Given the description of an element on the screen output the (x, y) to click on. 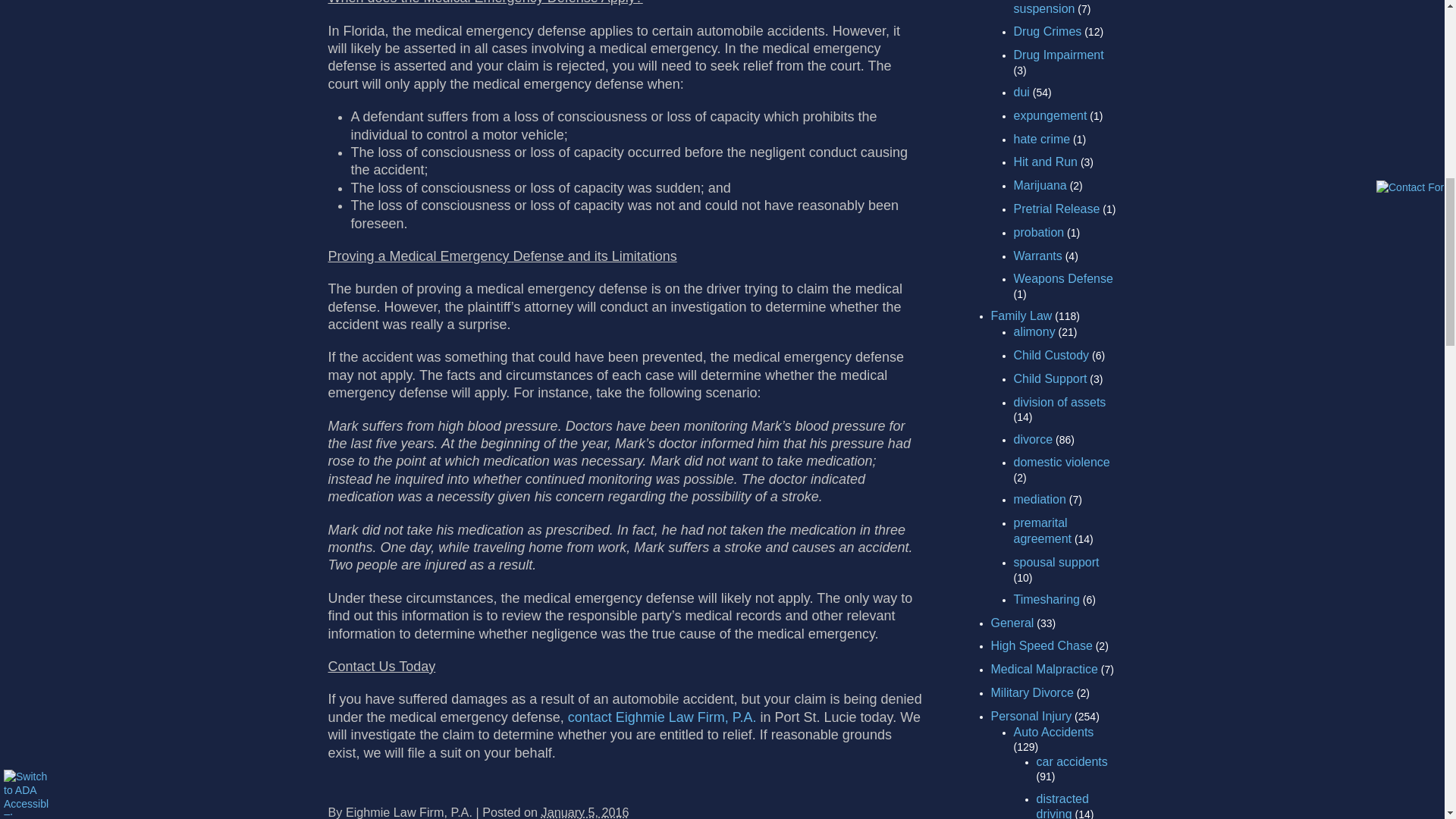
2016-01-05T09:03:13-0800 (584, 812)
contact Eighmie Law Firm, P.A. (662, 717)
